Given the description of an element on the screen output the (x, y) to click on. 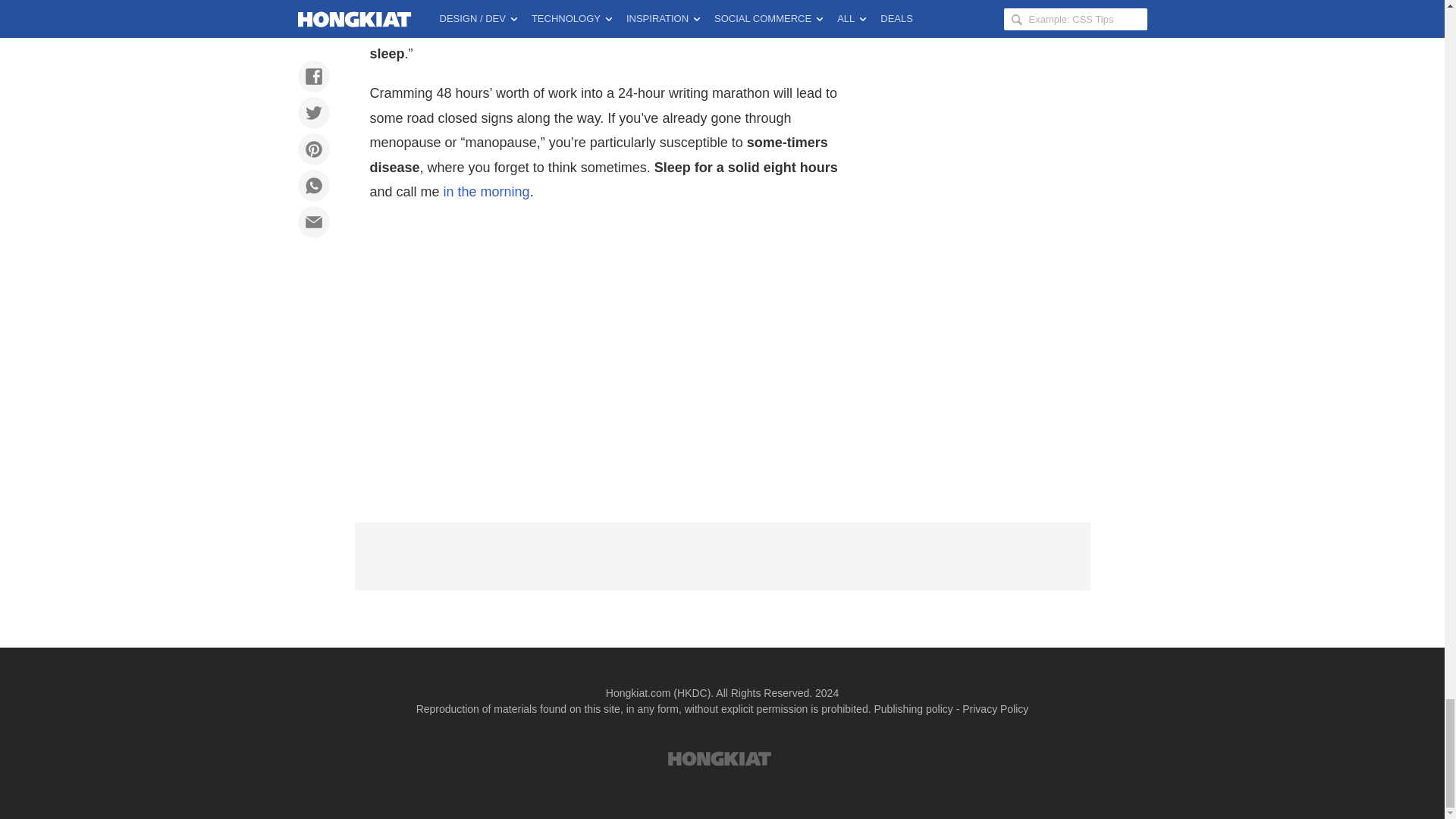
in the morning (486, 191)
